Given the description of an element on the screen output the (x, y) to click on. 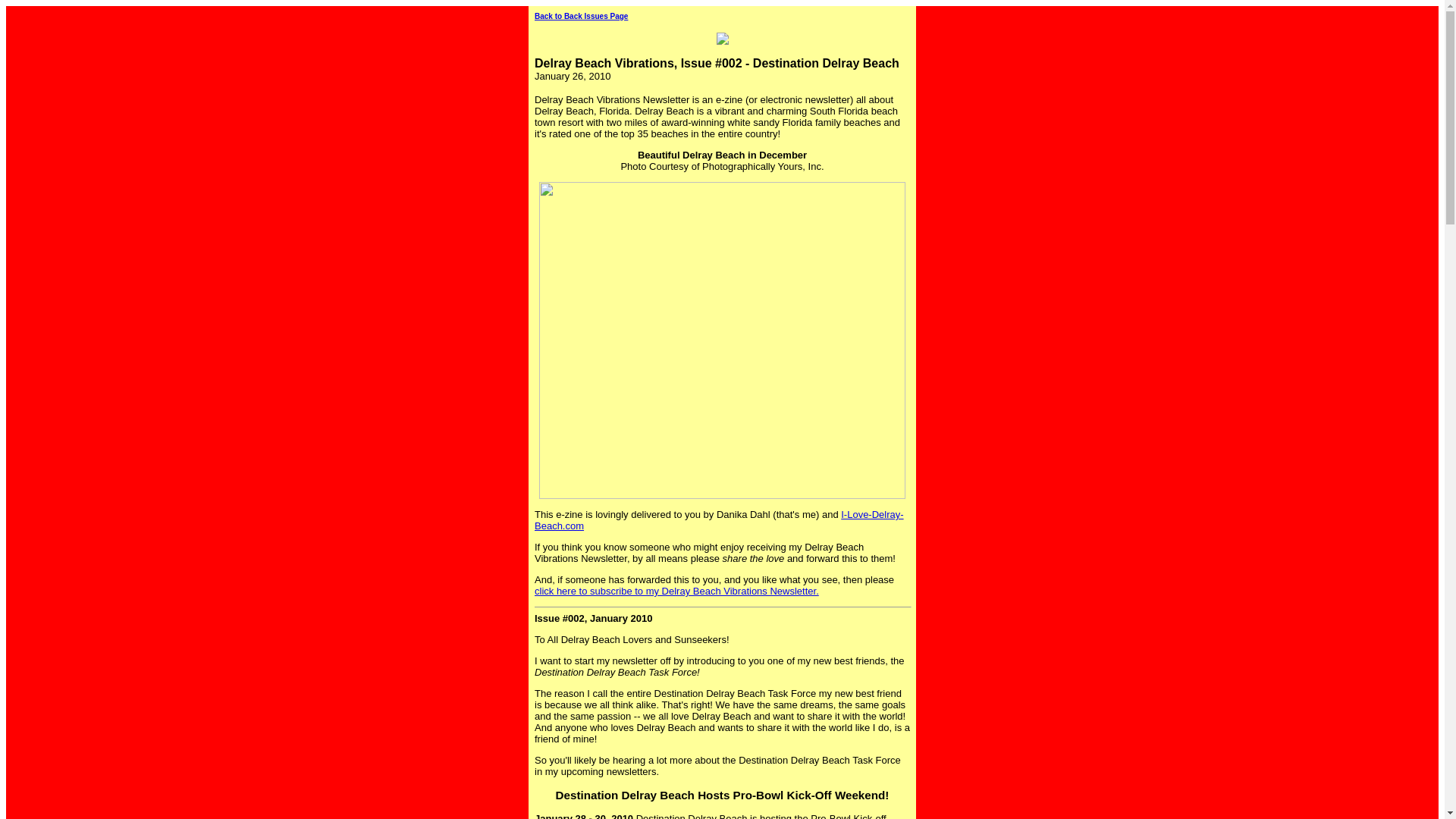
I-Love-Delray-Beach.com (719, 519)
Back to Back Issues Page (580, 16)
